Given the description of an element on the screen output the (x, y) to click on. 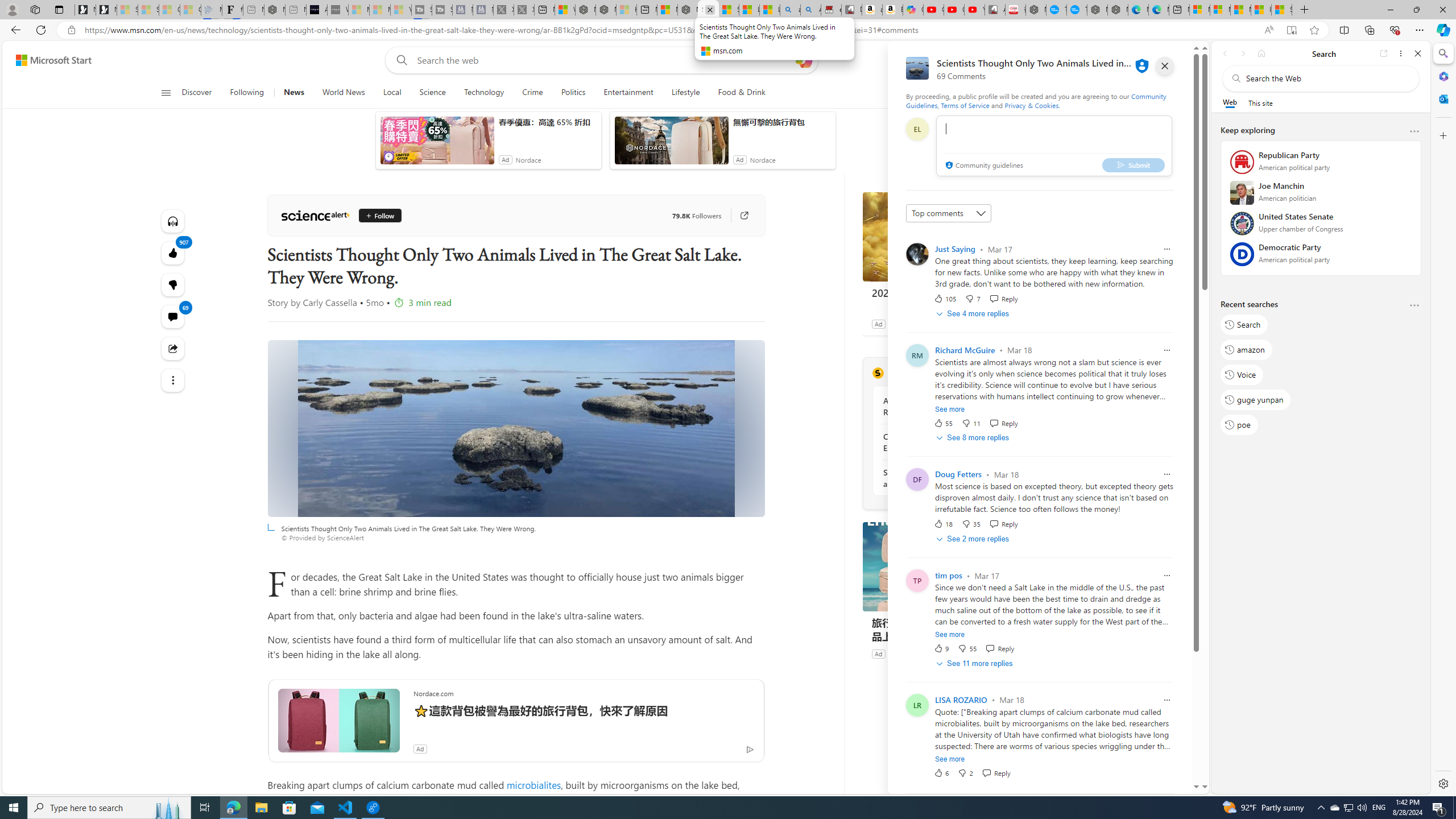
907 Like (172, 252)
Technology (483, 92)
Microsoft Start - Sleeping (379, 9)
To get missing image descriptions, open the context menu. (983, 92)
microbialites (534, 784)
9 Like (940, 648)
More like this907Fewer like thisView comments (172, 284)
Collections (1369, 29)
App bar (728, 29)
